Given the description of an element on the screen output the (x, y) to click on. 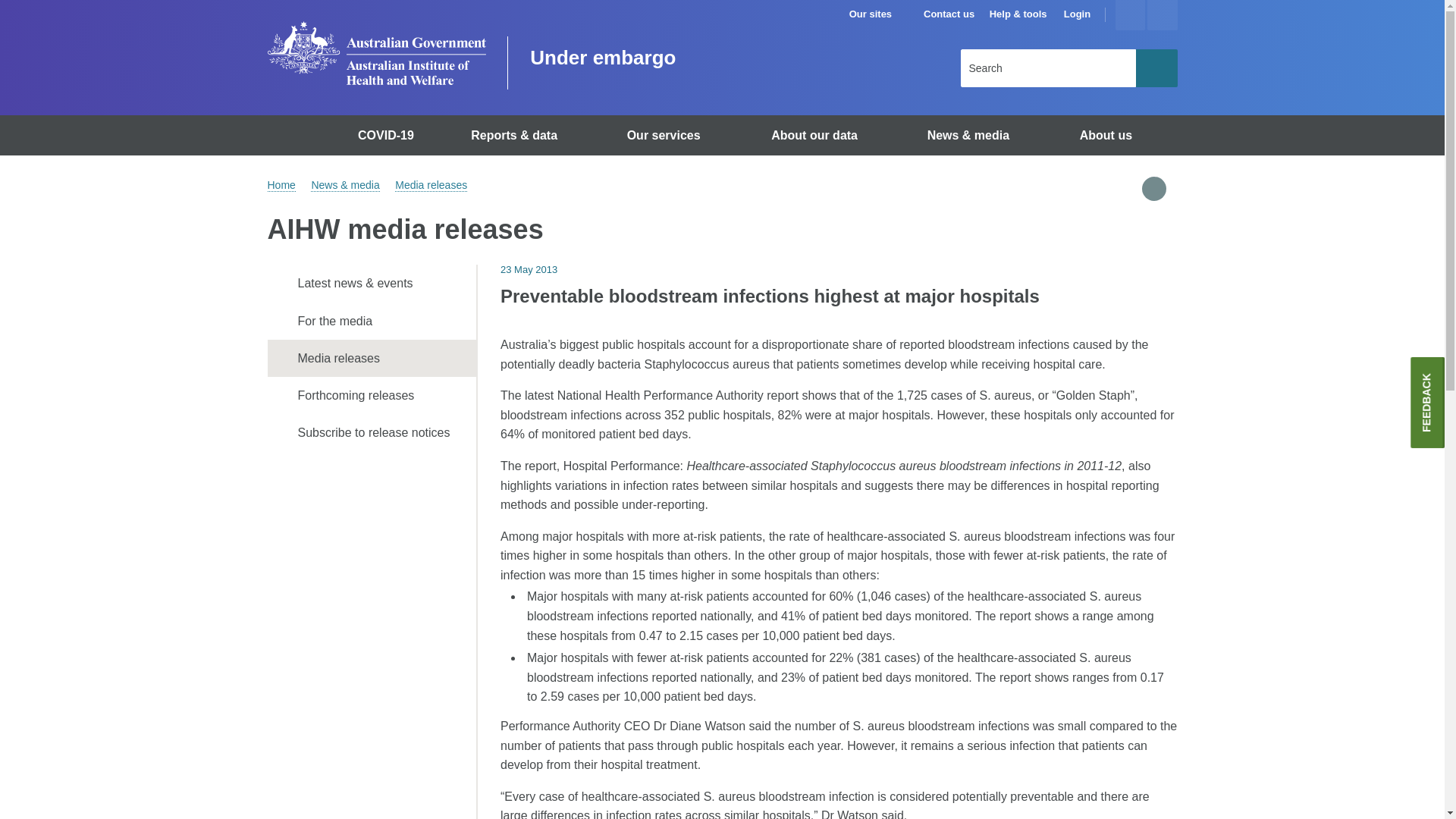
COVID-19 (388, 135)
Decrease text size (1162, 15)
Increase text size (1130, 15)
Australian Institute of Health and Welfare (375, 53)
Search (1156, 67)
Login (1077, 14)
Our sites (877, 14)
Contact us (948, 14)
